Given the description of an element on the screen output the (x, y) to click on. 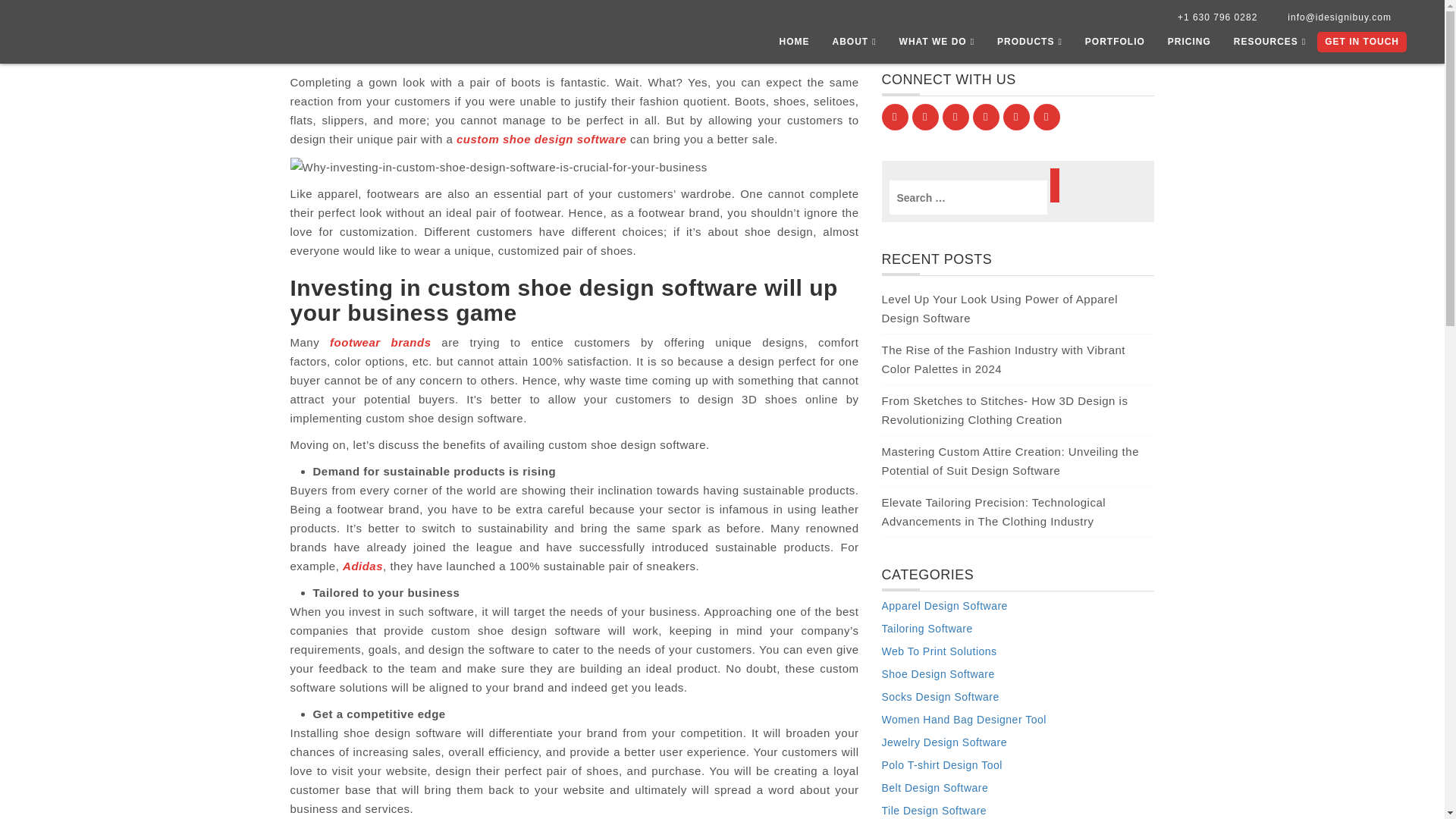
RESOURCES (1270, 45)
PRICING (1189, 45)
PORTFOLIO (1115, 45)
HOME (794, 45)
ABOUT (853, 45)
GET IN TOUCH (1361, 41)
WHAT WE DO (937, 45)
PRODUCTS (1029, 45)
